Given the description of an element on the screen output the (x, y) to click on. 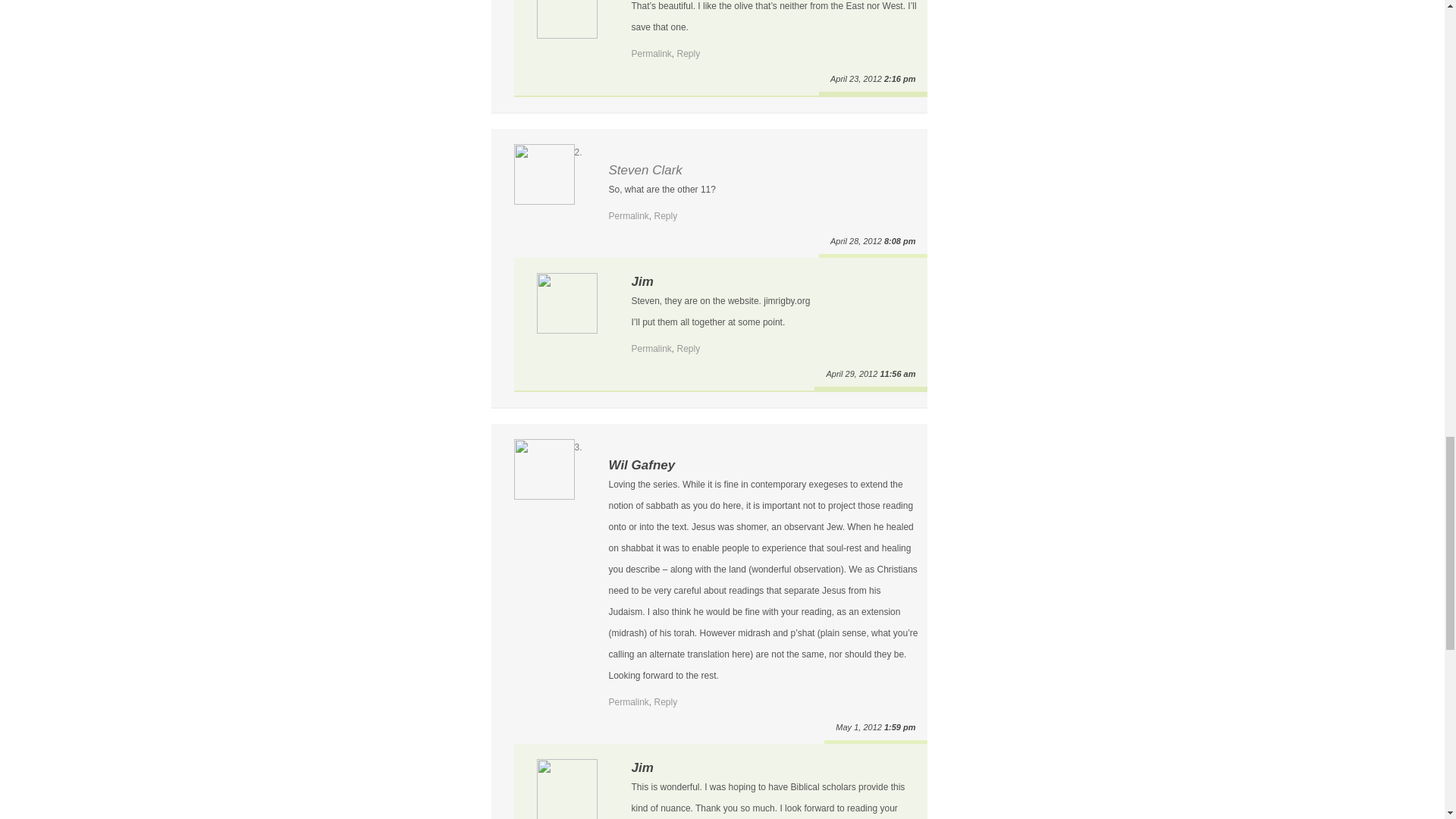
Jim (641, 281)
Reply (665, 215)
8:08 pm (899, 240)
Reply (688, 348)
11:56 am (897, 373)
Reply (665, 701)
1:59 pm (899, 727)
2:16 pm (899, 78)
Reply (688, 53)
Permalink (627, 701)
